Given the description of an element on the screen output the (x, y) to click on. 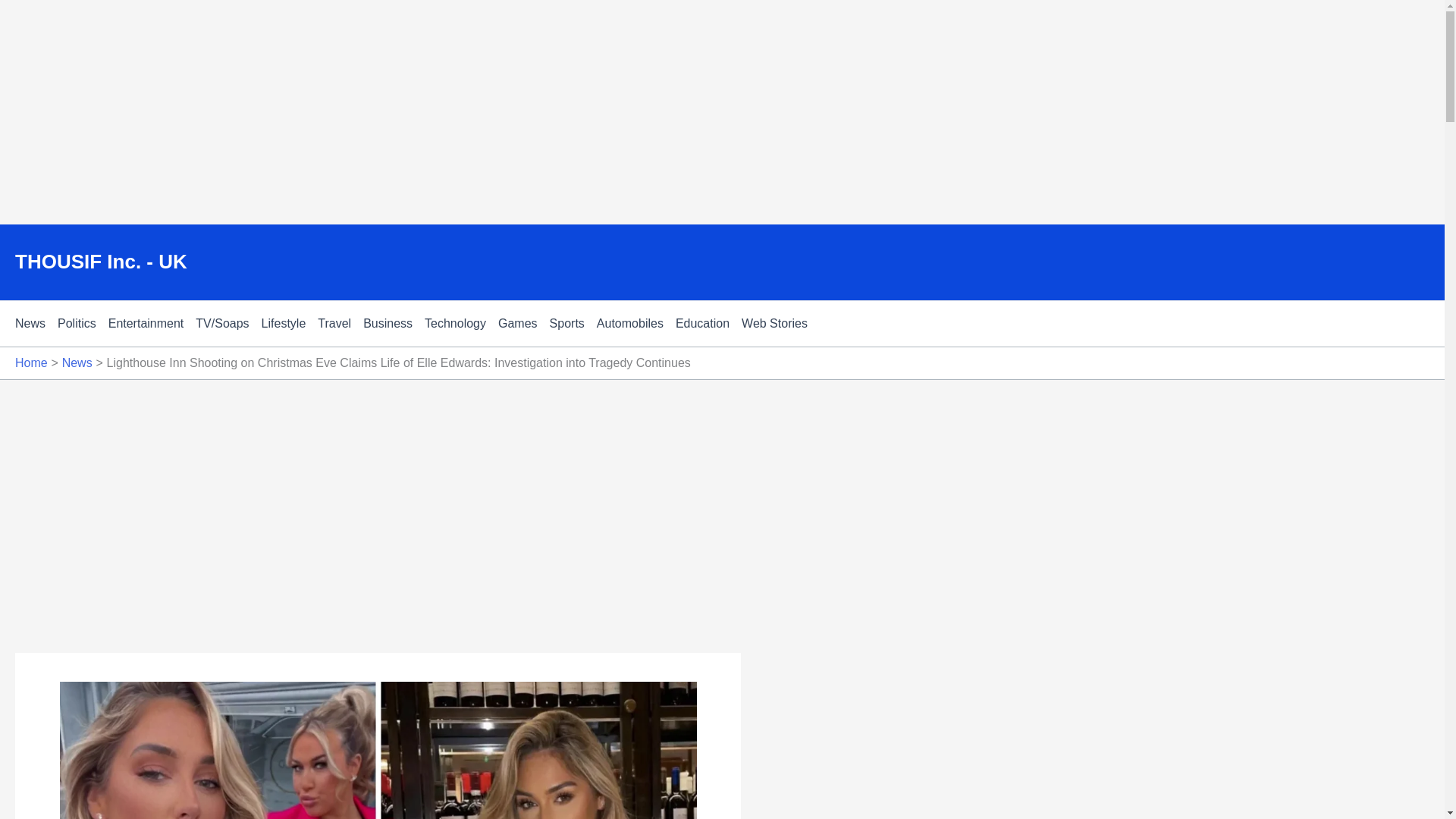
Education (708, 323)
News (77, 362)
Politics (82, 323)
Games (523, 323)
Web Stories (780, 323)
Travel (339, 323)
Automobiles (635, 323)
Sports (573, 323)
Technology (461, 323)
Entertainment (151, 323)
